Given the description of an element on the screen output the (x, y) to click on. 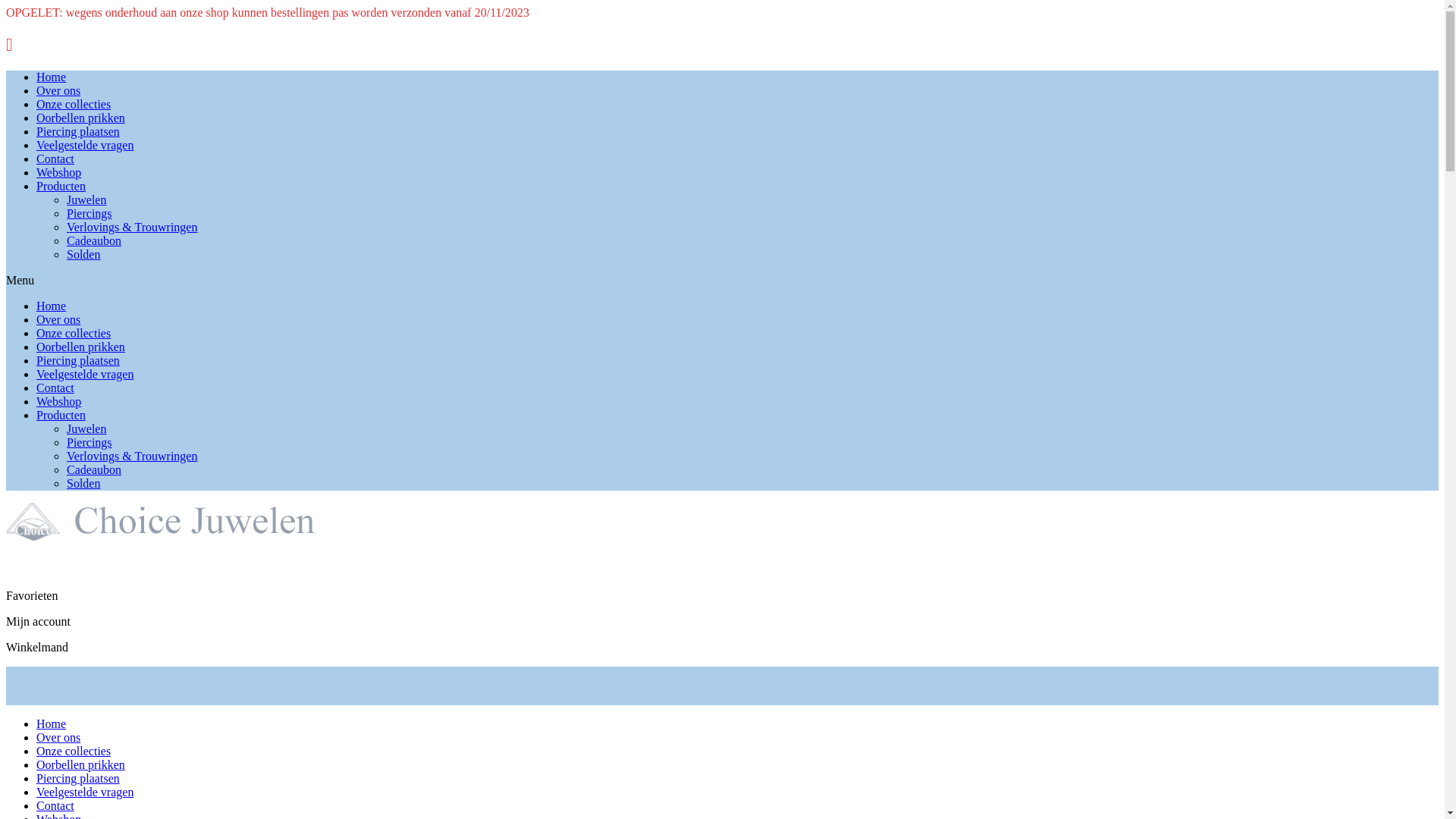
Oorbellen prikken Element type: text (80, 117)
Oorbellen prikken Element type: text (80, 764)
Cadeaubon Element type: text (93, 240)
Webshop Element type: text (58, 401)
Veelgestelde vragen Element type: text (84, 144)
Home Element type: text (50, 305)
Piercing plaatsen Element type: text (77, 360)
Veelgestelde vragen Element type: text (84, 791)
Solden Element type: text (83, 482)
Piercing plaatsen Element type: text (77, 777)
Cadeaubon Element type: text (93, 469)
Over ons Element type: text (58, 90)
Contact Element type: text (55, 805)
Oorbellen prikken Element type: text (80, 346)
Verlovings & Trouwringen Element type: text (131, 455)
Piercing plaatsen Element type: text (77, 131)
Producten Element type: text (60, 414)
Juwelen Element type: text (86, 428)
Home Element type: text (50, 723)
Webshop Element type: text (58, 172)
Contact Element type: text (55, 387)
Producten Element type: text (60, 185)
Over ons Element type: text (58, 319)
Onze collecties Element type: text (73, 103)
Home Element type: text (50, 76)
Juwelen Element type: text (86, 199)
Onze collecties Element type: text (73, 332)
Contact Element type: text (55, 158)
Piercings Element type: text (89, 213)
Piercings Element type: text (89, 442)
Onze collecties Element type: text (73, 750)
Solden Element type: text (83, 253)
Veelgestelde vragen Element type: text (84, 373)
Over ons Element type: text (58, 737)
Verlovings & Trouwringen Element type: text (131, 226)
